Given the description of an element on the screen output the (x, y) to click on. 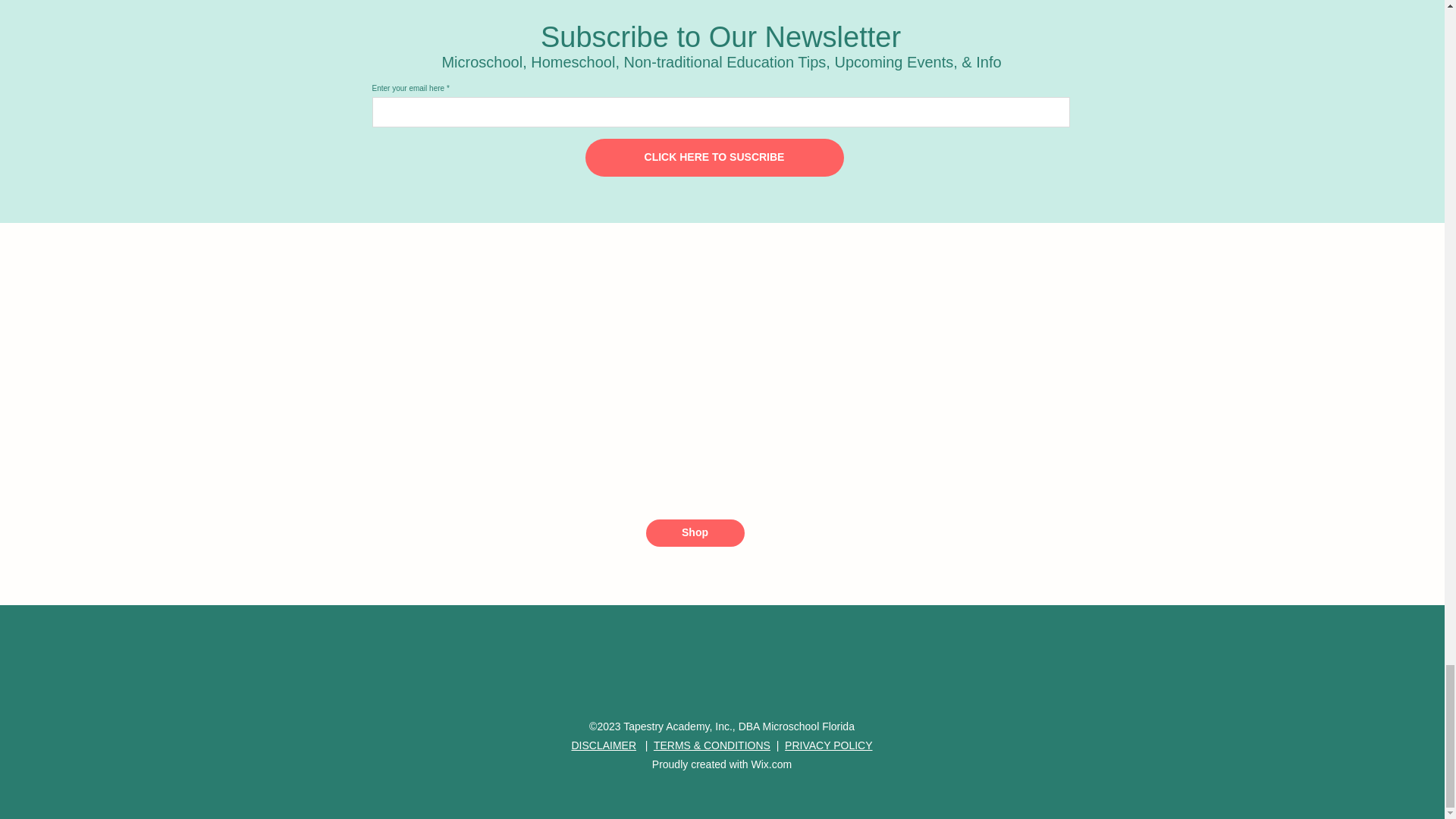
Shop (695, 533)
CLICK HERE TO SUSCRIBE (714, 157)
PRIVACY POLICY (828, 745)
DISCLAIMER (603, 745)
